Given the description of an element on the screen output the (x, y) to click on. 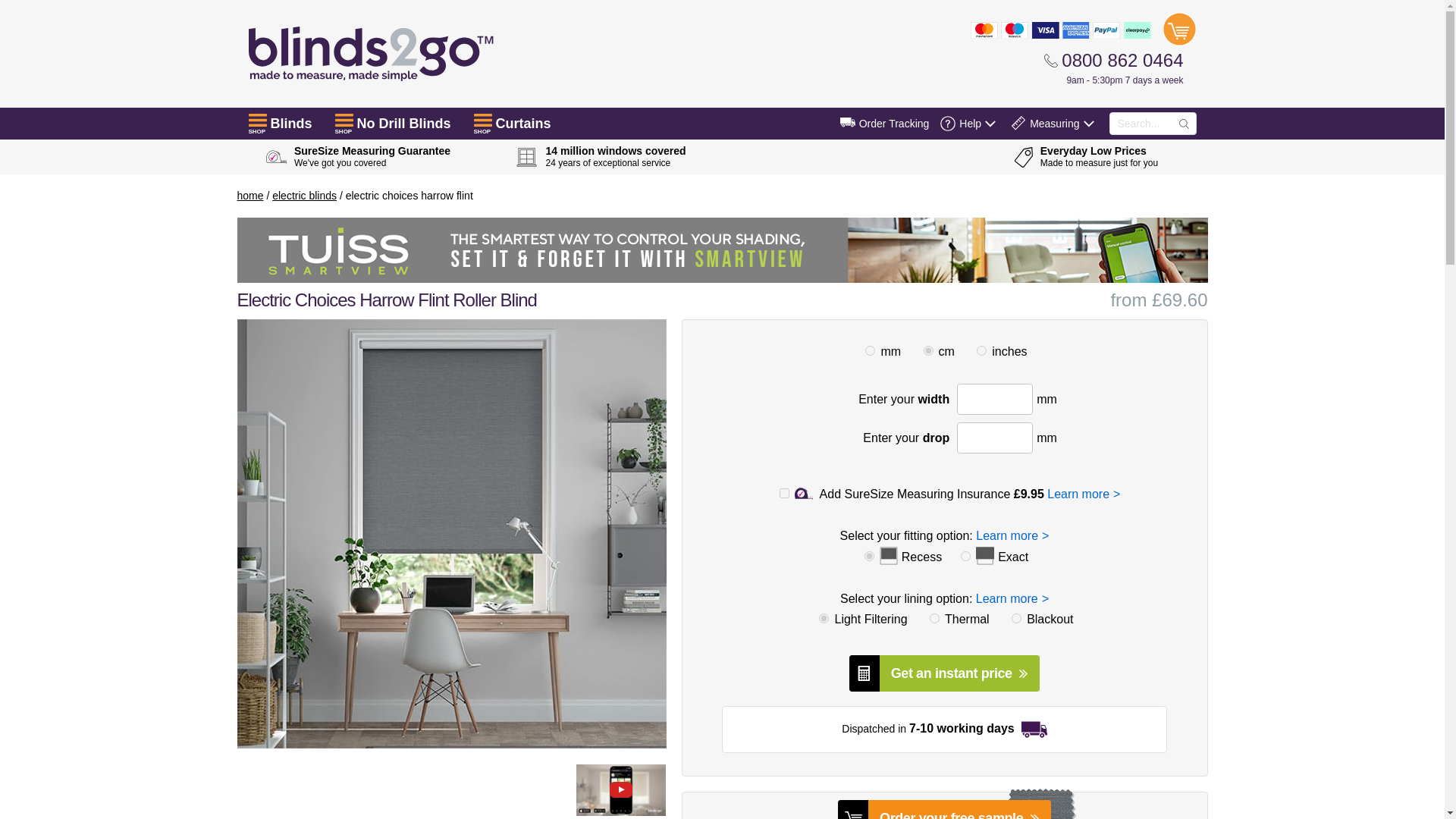
R (869, 556)
0800 862 0464 (1112, 60)
E (965, 556)
240 (807, 623)
burger icon (257, 119)
delivery icon (848, 121)
242 (917, 623)
burger icon (343, 119)
241 (1000, 623)
burger icon (483, 119)
